Given the description of an element on the screen output the (x, y) to click on. 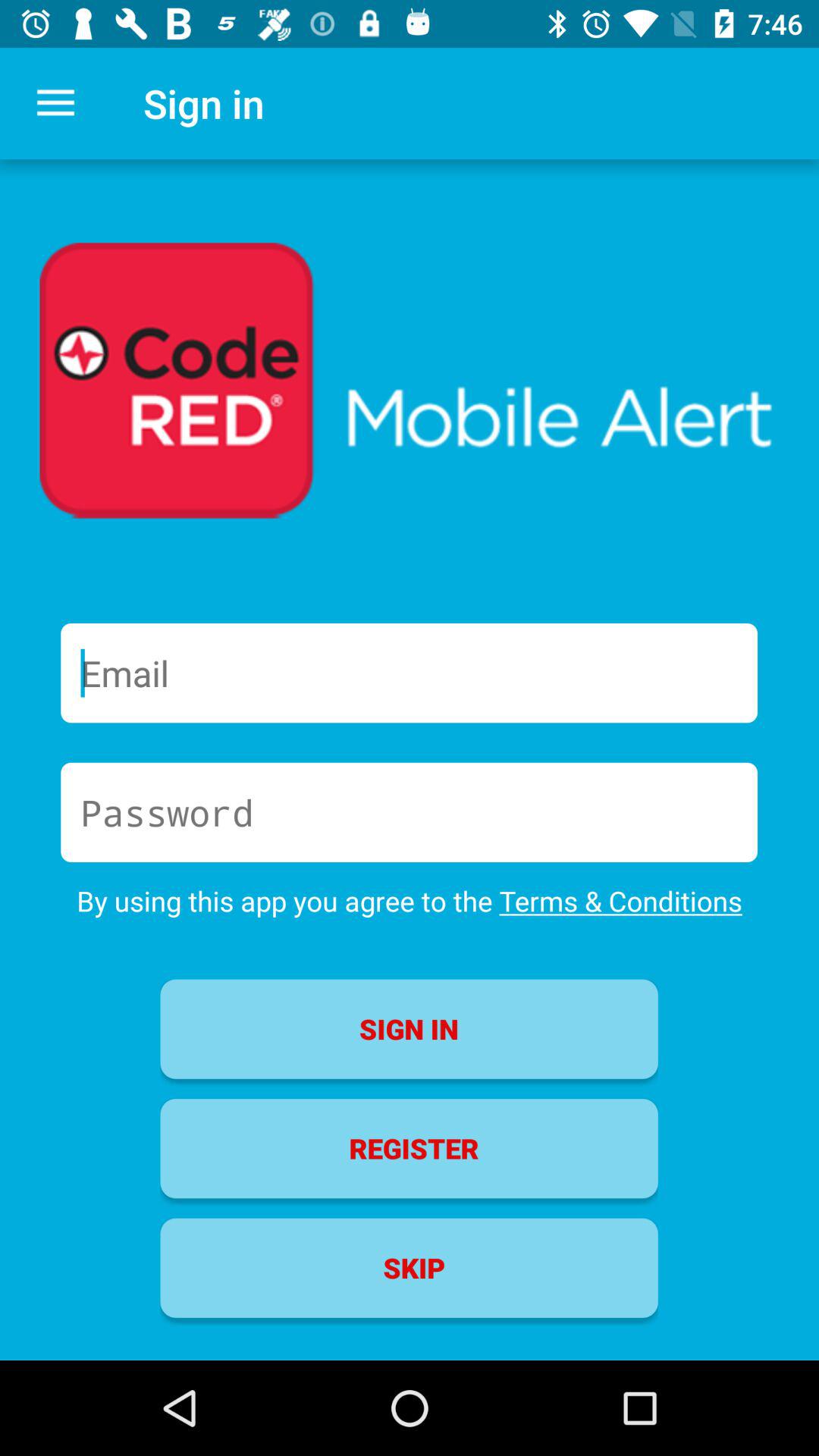
password entry (408, 812)
